Given the description of an element on the screen output the (x, y) to click on. 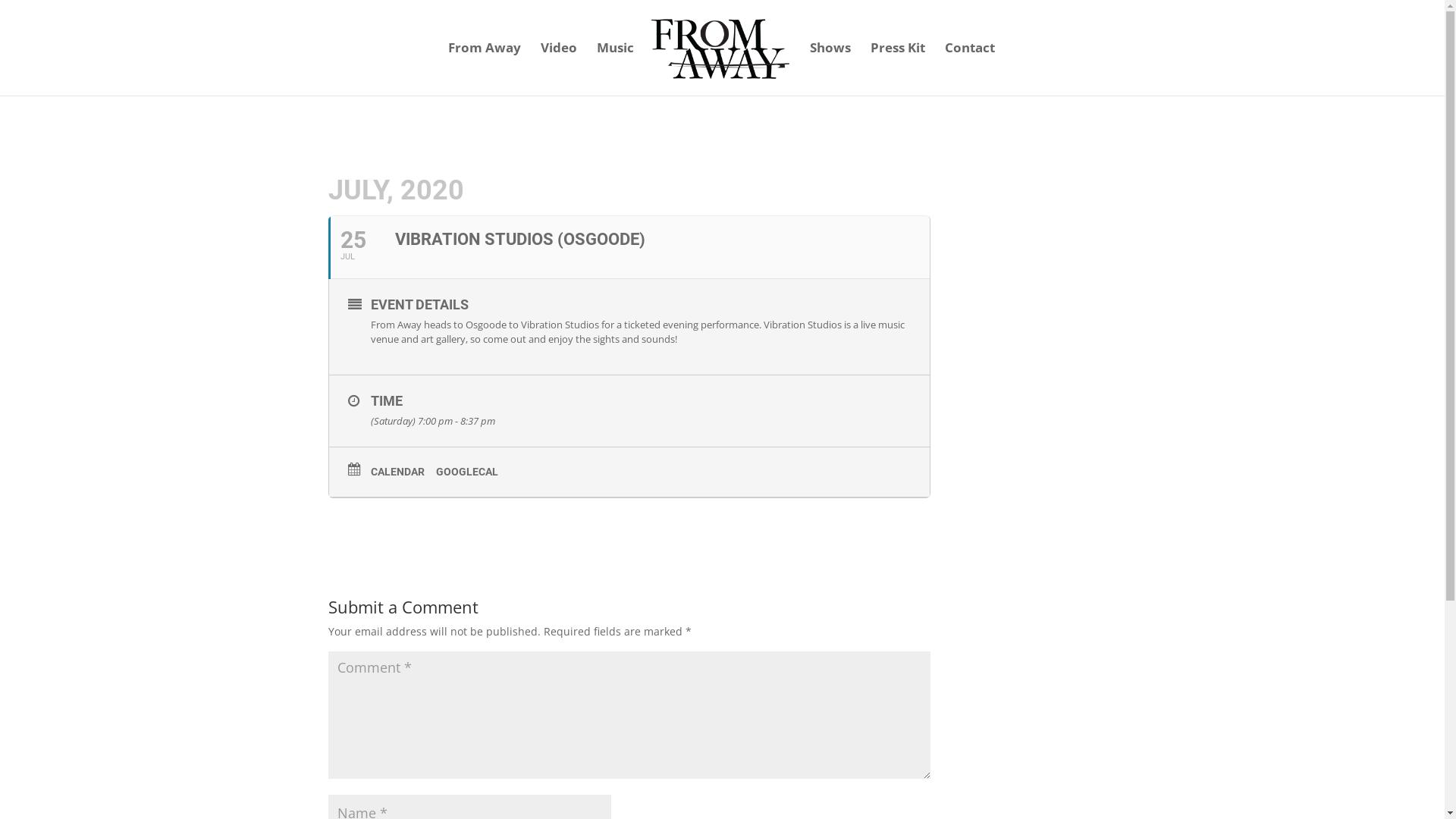
Music Element type: text (614, 68)
CALENDAR Element type: text (402, 471)
From Away Element type: text (484, 68)
25
JUL
VIBRATION STUDIOS (OSGOODE) Element type: text (627, 247)
Shows Element type: text (829, 68)
Contact Element type: text (969, 68)
Video Element type: text (558, 68)
Press Kit Element type: text (897, 68)
GOOGLECAL Element type: text (471, 471)
